Given the description of an element on the screen output the (x, y) to click on. 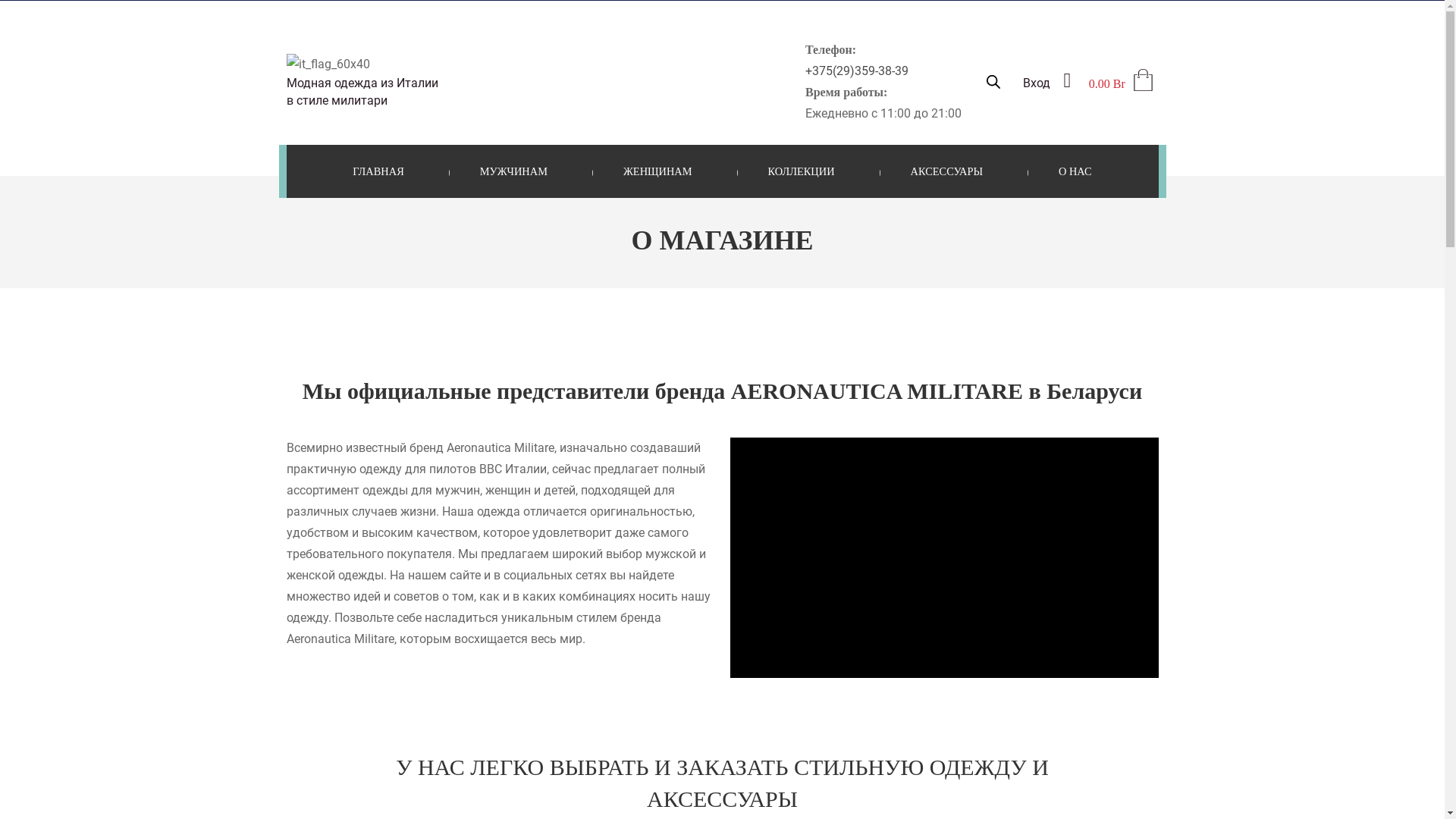
+375(29)359-38-39 Element type: text (856, 70)
0.00 Br Element type: text (1121, 82)
it_flag_60x40 Element type: hover (328, 64)
